Given the description of an element on the screen output the (x, y) to click on. 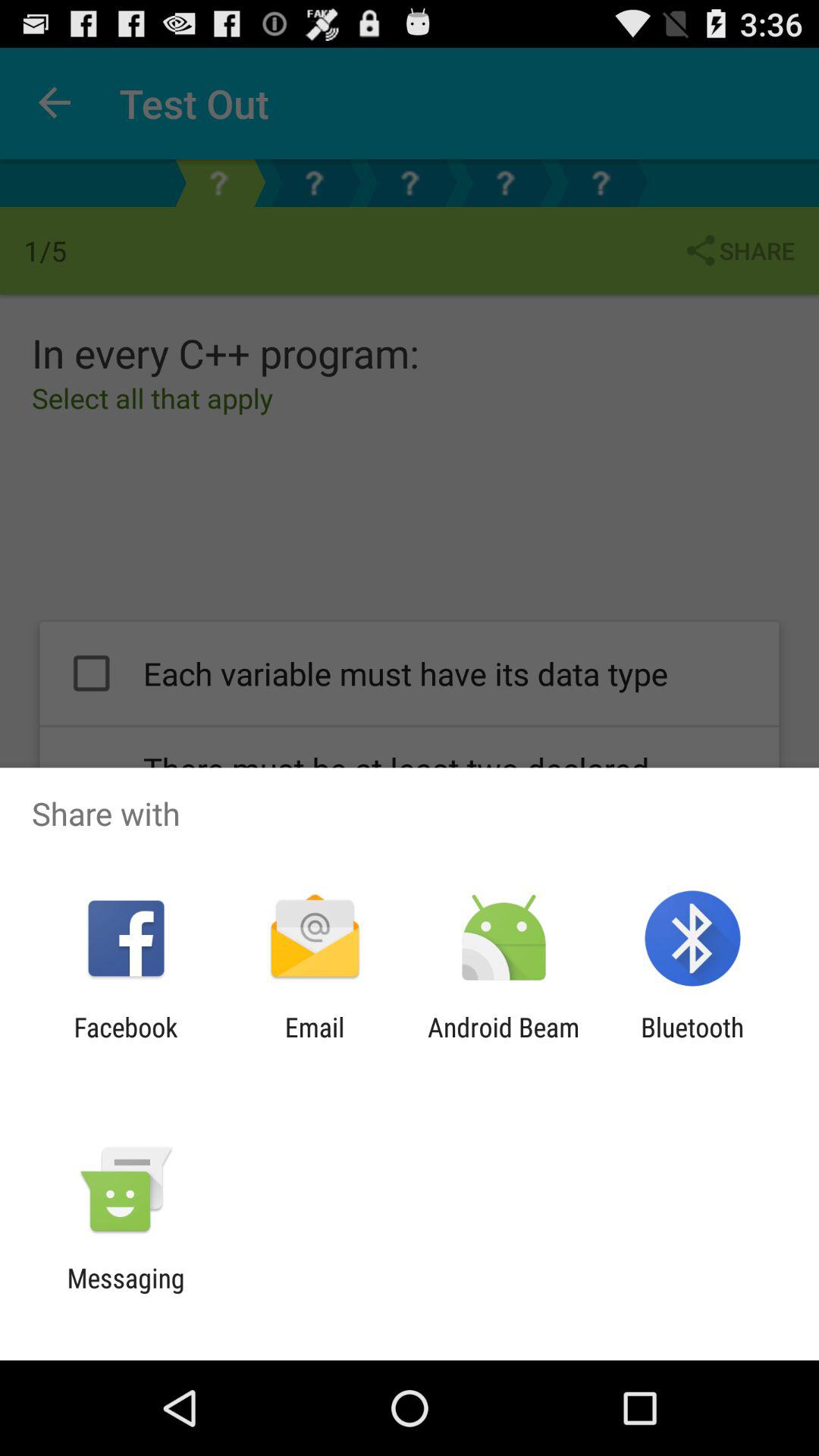
open the app to the left of the email item (125, 1042)
